Given the description of an element on the screen output the (x, y) to click on. 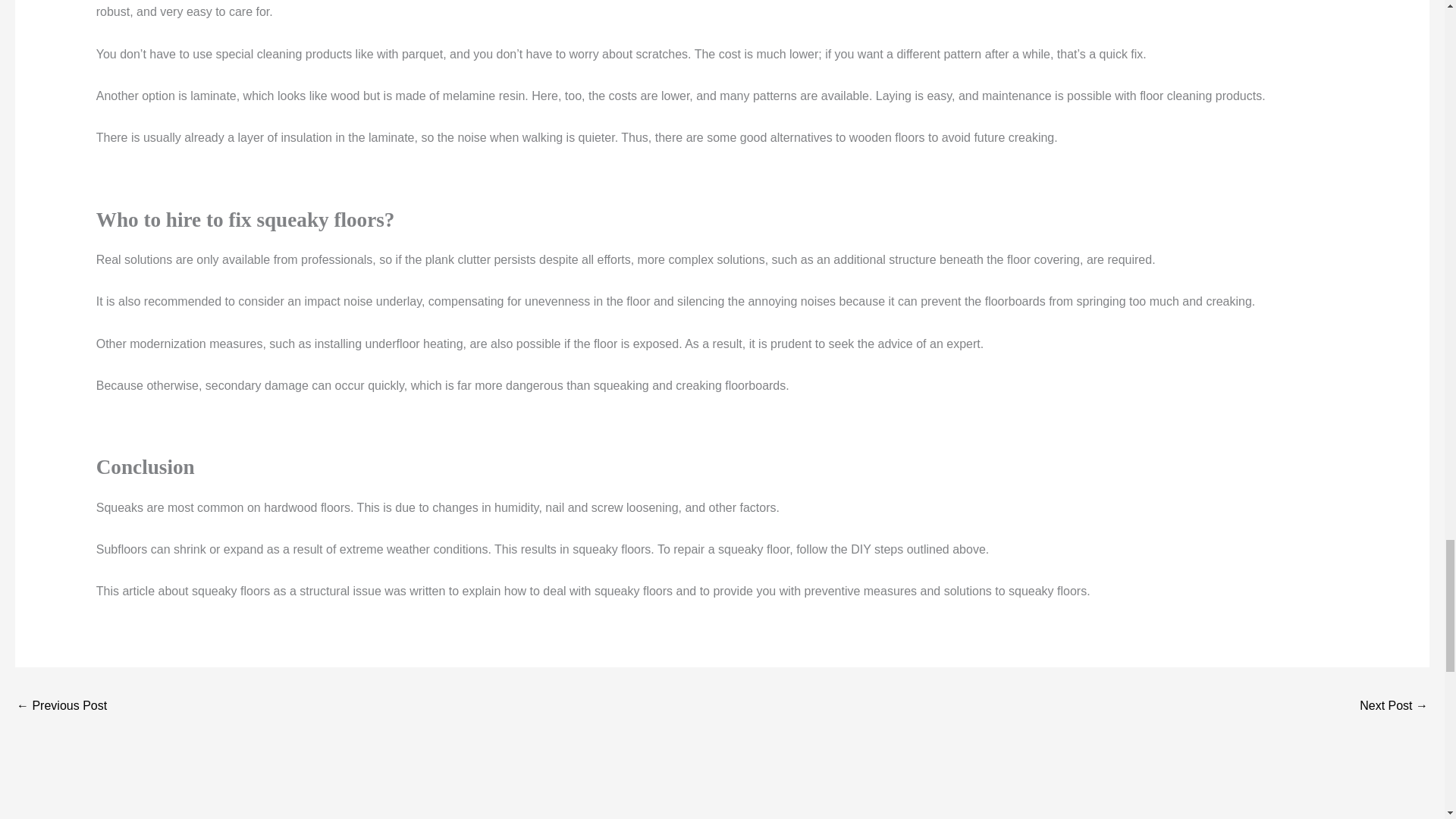
What is the liquid plastic coating for wood decking (61, 706)
An easy method to fix squeaky laminate floor with liquid wax (1393, 706)
